Given the description of an element on the screen output the (x, y) to click on. 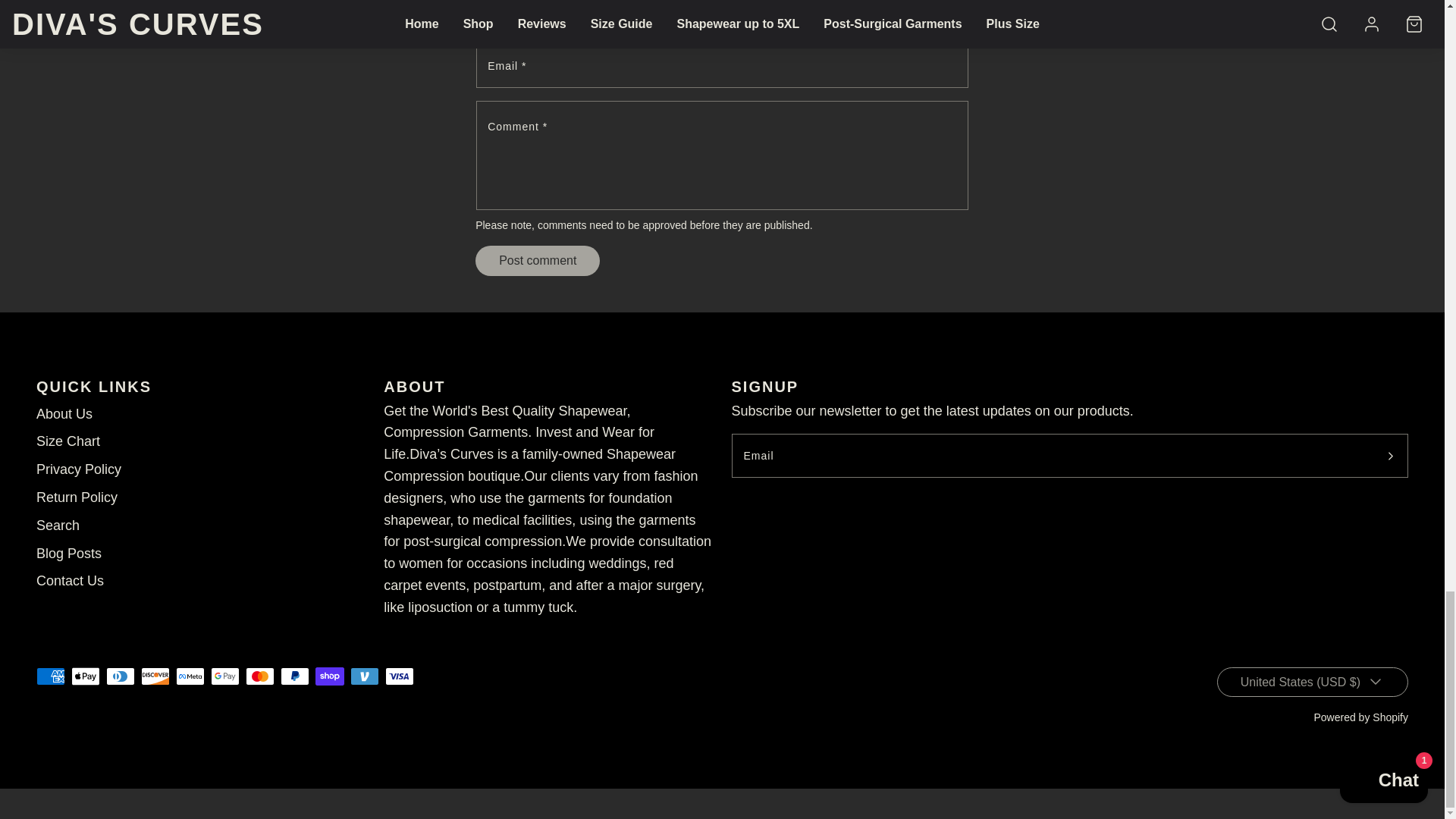
Meta Pay (190, 676)
PayPal (294, 676)
Discover (155, 676)
American Express (50, 676)
Visa (399, 676)
Shop Pay (329, 676)
Size Chart (68, 441)
Diners Club (120, 676)
Powered by Shopify (1360, 717)
Apple Pay (85, 676)
Post comment (537, 260)
Blog Posts (68, 553)
Mastercard (260, 676)
Venmo (364, 676)
Return Policy (76, 497)
